Given the description of an element on the screen output the (x, y) to click on. 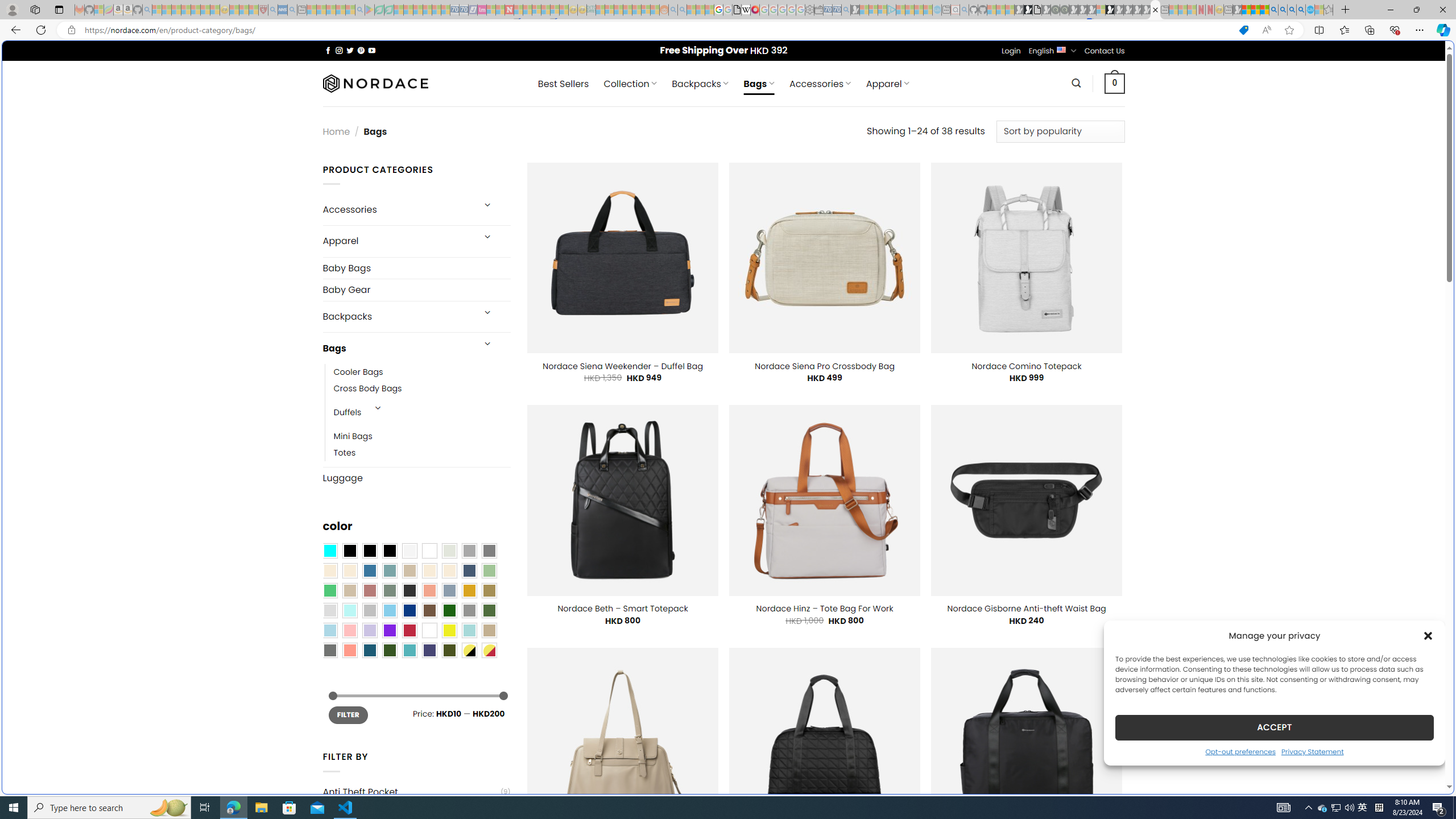
Dusty Blue (449, 590)
Bags (397, 348)
Anti Theft Pocket (410, 791)
Clear (429, 550)
